Given the description of an element on the screen output the (x, y) to click on. 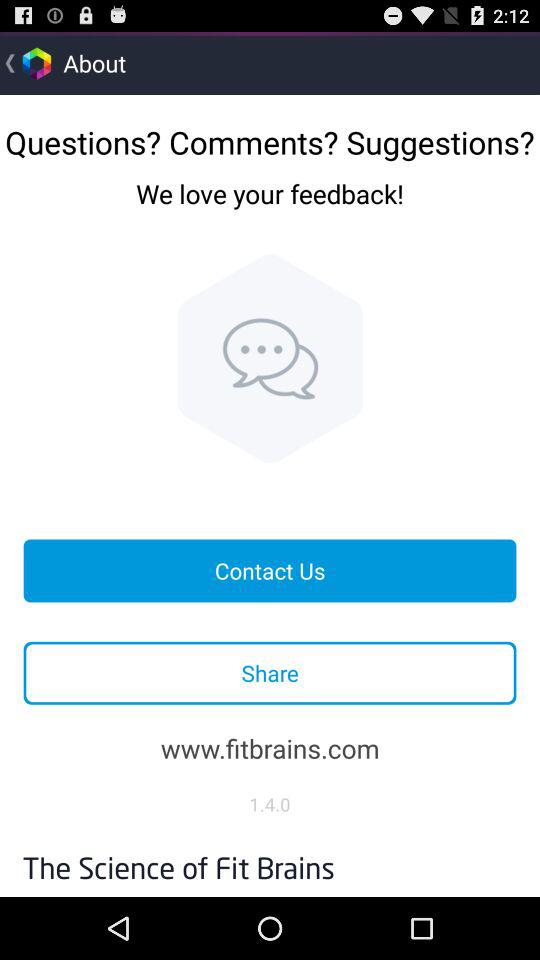
turn on the share item (269, 672)
